Given the description of an element on the screen output the (x, y) to click on. 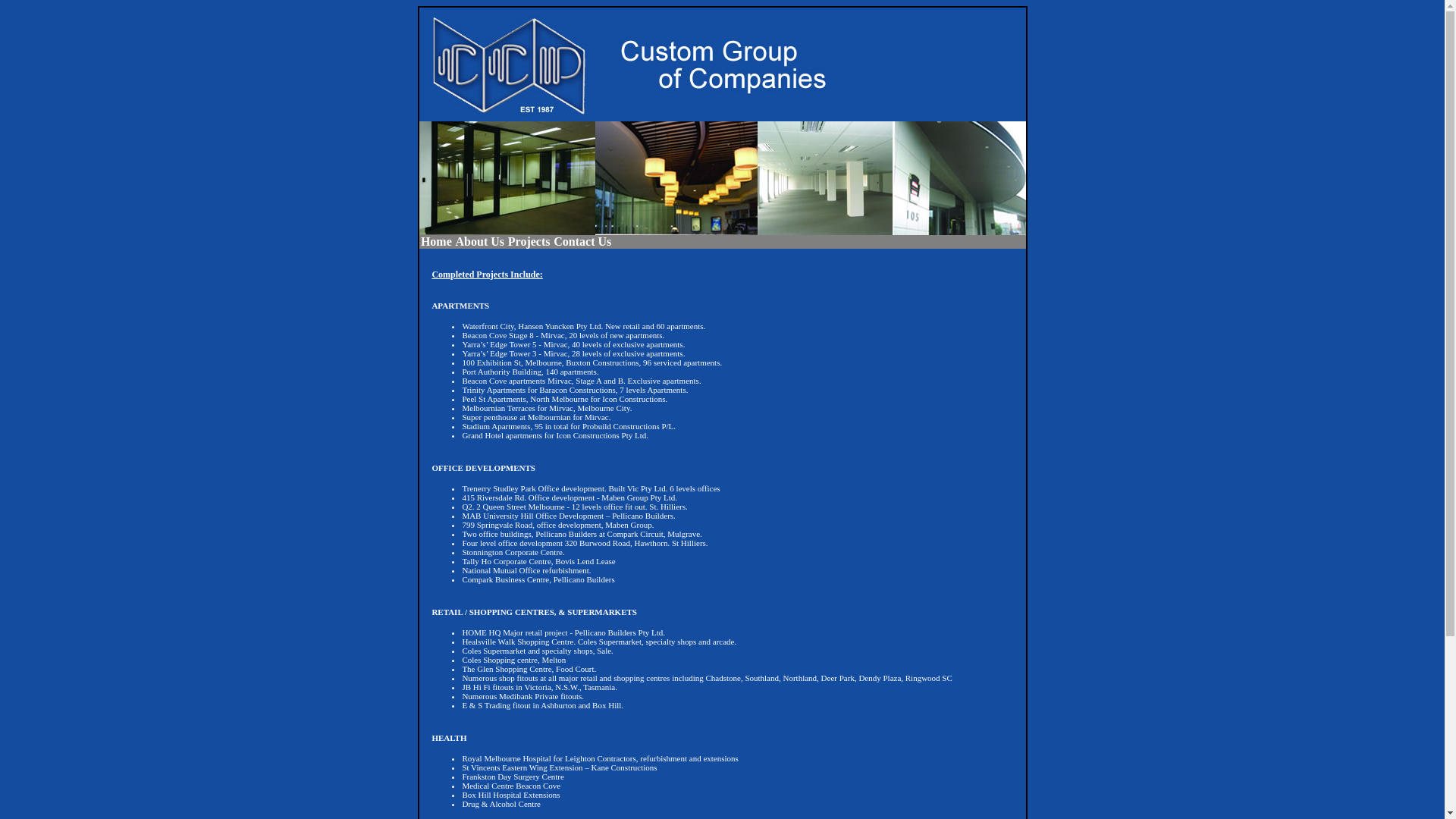
Contact Us Element type: text (582, 241)
Projects Element type: text (528, 241)
About Us Element type: text (479, 241)
Home Element type: text (435, 241)
